Given the description of an element on the screen output the (x, y) to click on. 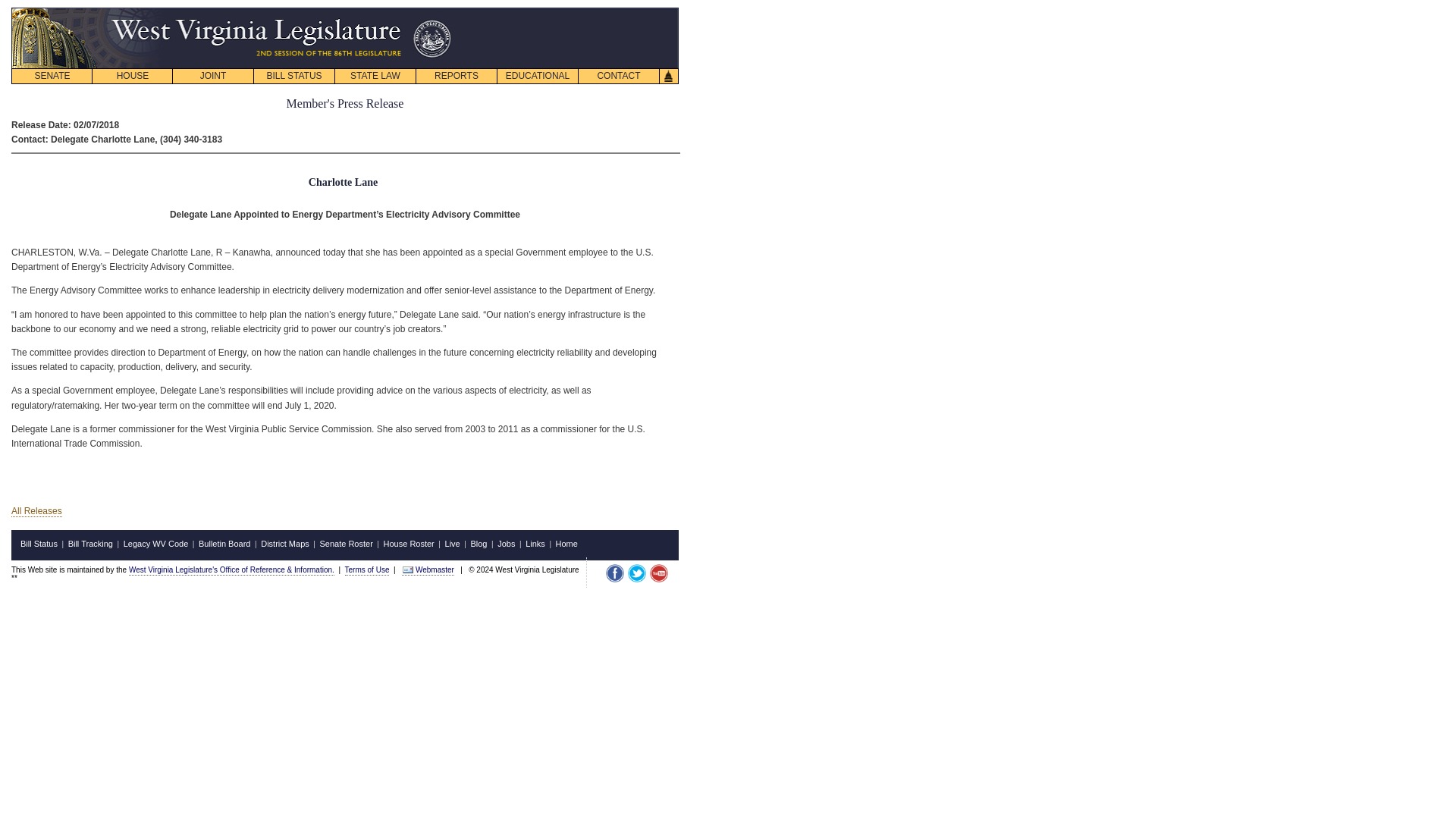
STATE LAW (375, 75)
HOUSE (132, 75)
Follow on Twitter (636, 573)
SENATE (52, 75)
Watch on YouTube (658, 573)
BILL STATUS (293, 75)
Find on Facebook (614, 573)
JOINT (212, 75)
Email Webmaster (407, 569)
